Given the description of an element on the screen output the (x, y) to click on. 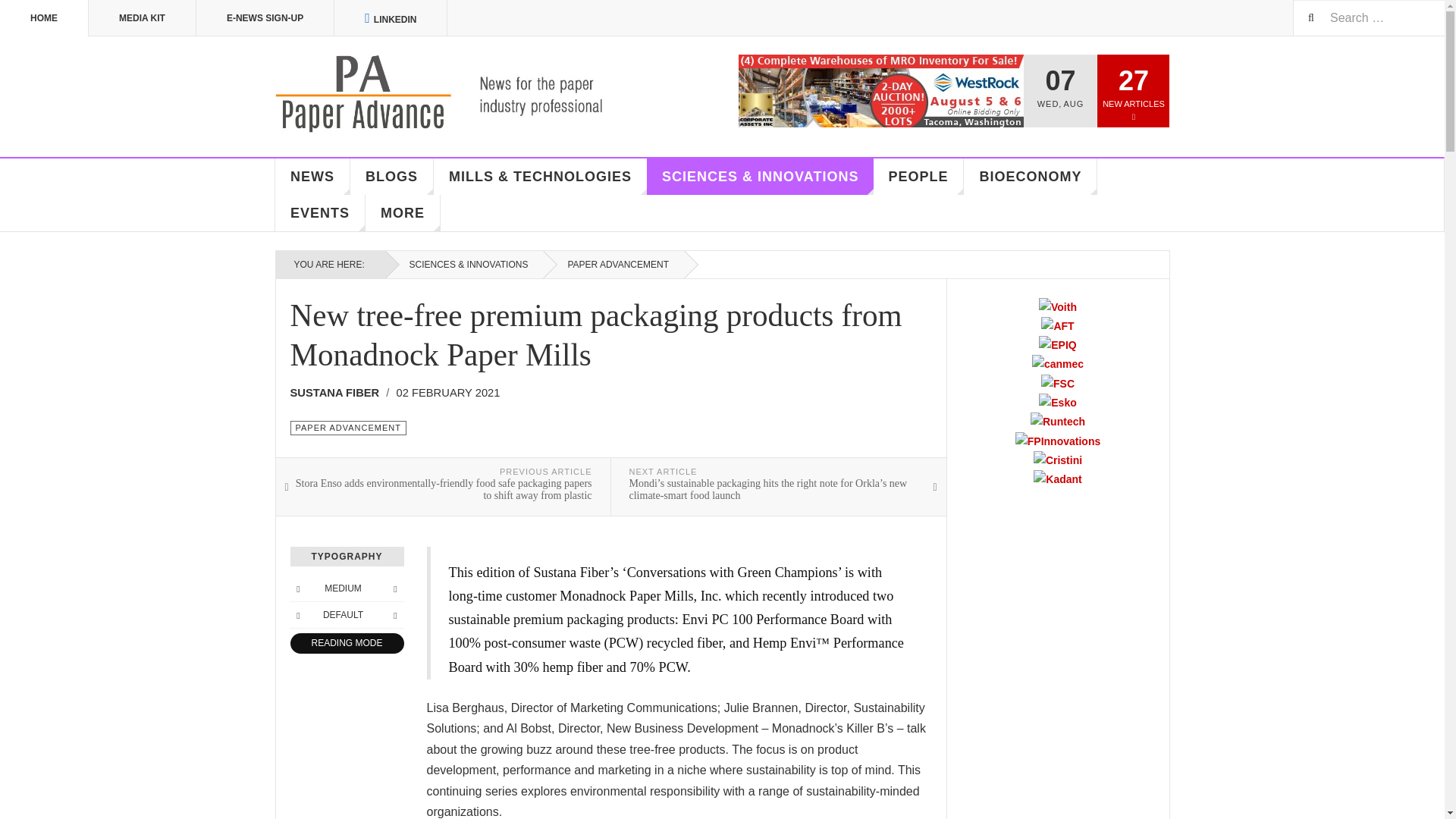
HOME (44, 18)
Paper Advance (461, 93)
MEDIA KIT (142, 18)
E-NEWS SIGN-UP (265, 18)
LINKEDIN (390, 18)
NEWS (312, 176)
